Given the description of an element on the screen output the (x, y) to click on. 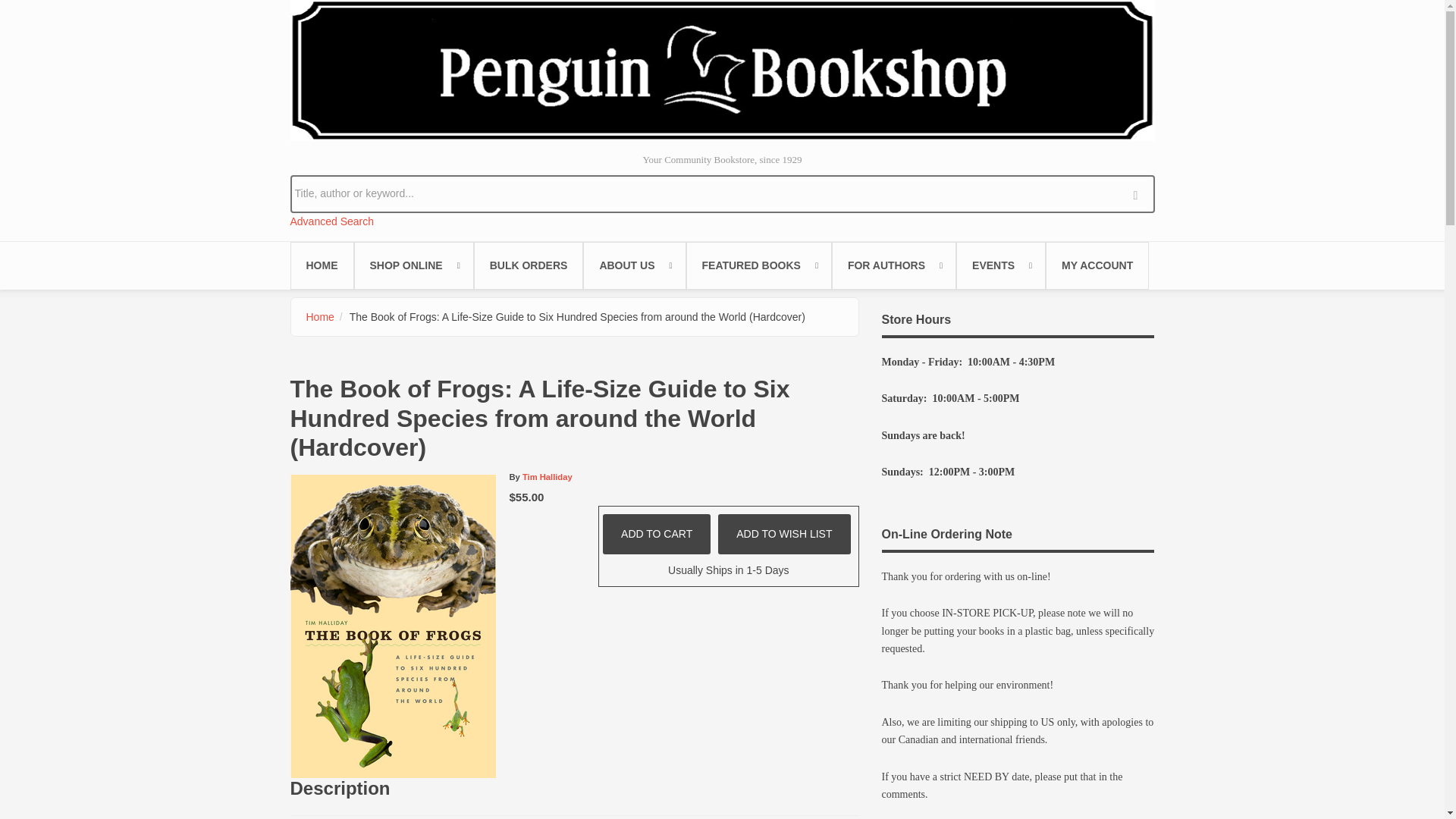
Title, author or keyword... (721, 193)
SHOP ONLINE (413, 265)
Self-published author information (893, 265)
Tim Halliday (547, 476)
ADD TO WISH LIST (783, 533)
Add to Cart (656, 533)
FOR AUTHORS (893, 265)
EVENTS (1000, 265)
Home (319, 316)
BULK ORDERS (528, 265)
FEATURED BOOKS (758, 265)
MY ACCOUNT (1096, 265)
Advanced Search (331, 221)
Add to Cart (656, 533)
ABOUT US (634, 265)
